Given the description of an element on the screen output the (x, y) to click on. 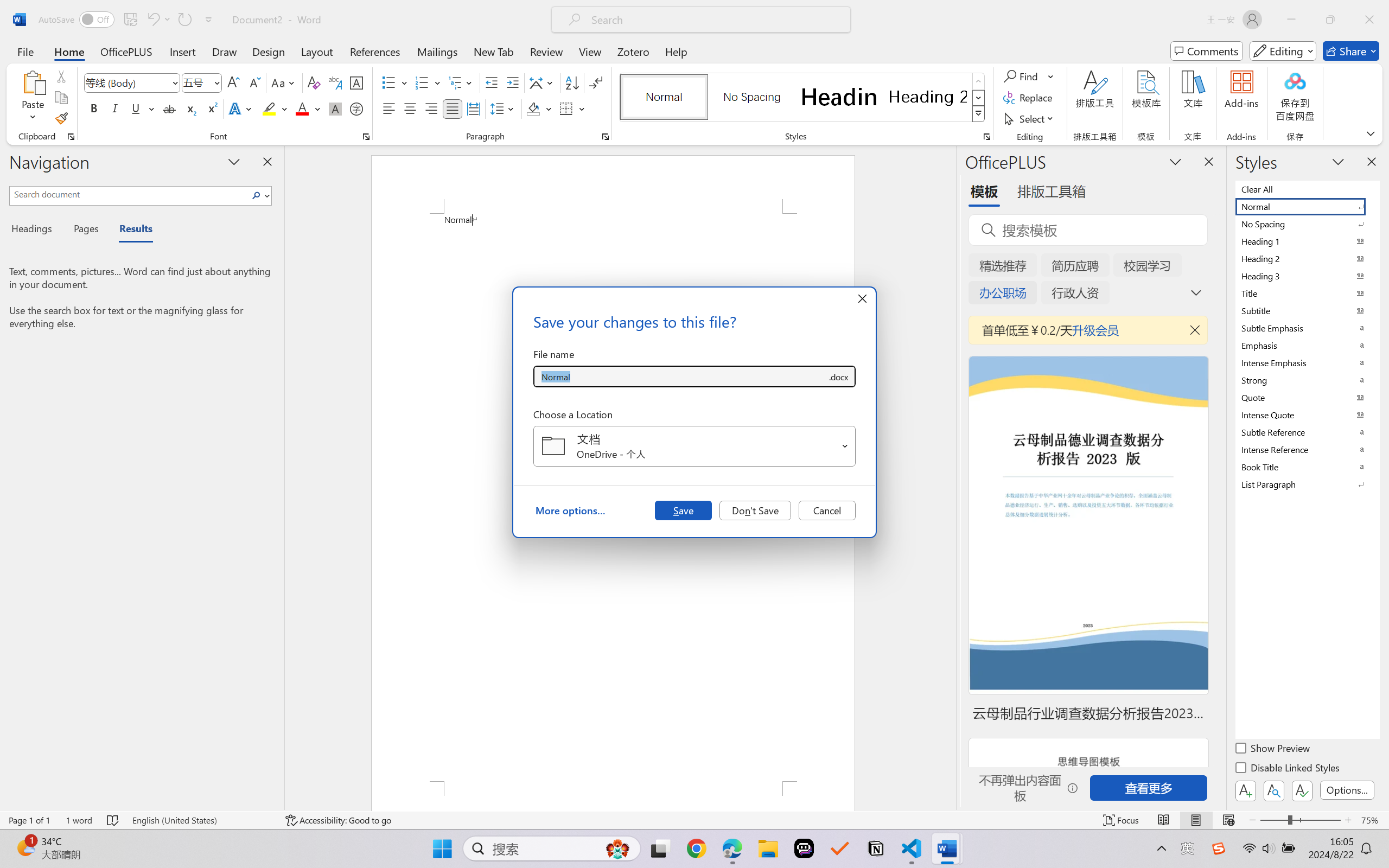
Ribbon Display Options (1370, 132)
AutomationID: DynamicSearchBoxGleamImage (617, 848)
Review (546, 51)
Print Layout (1196, 819)
Show Preview (1273, 749)
Justify (452, 108)
Results (130, 229)
Undo Apply Quick Style (158, 19)
Heading 1 (839, 96)
References (375, 51)
Microsoft search (715, 19)
